Given the description of an element on the screen output the (x, y) to click on. 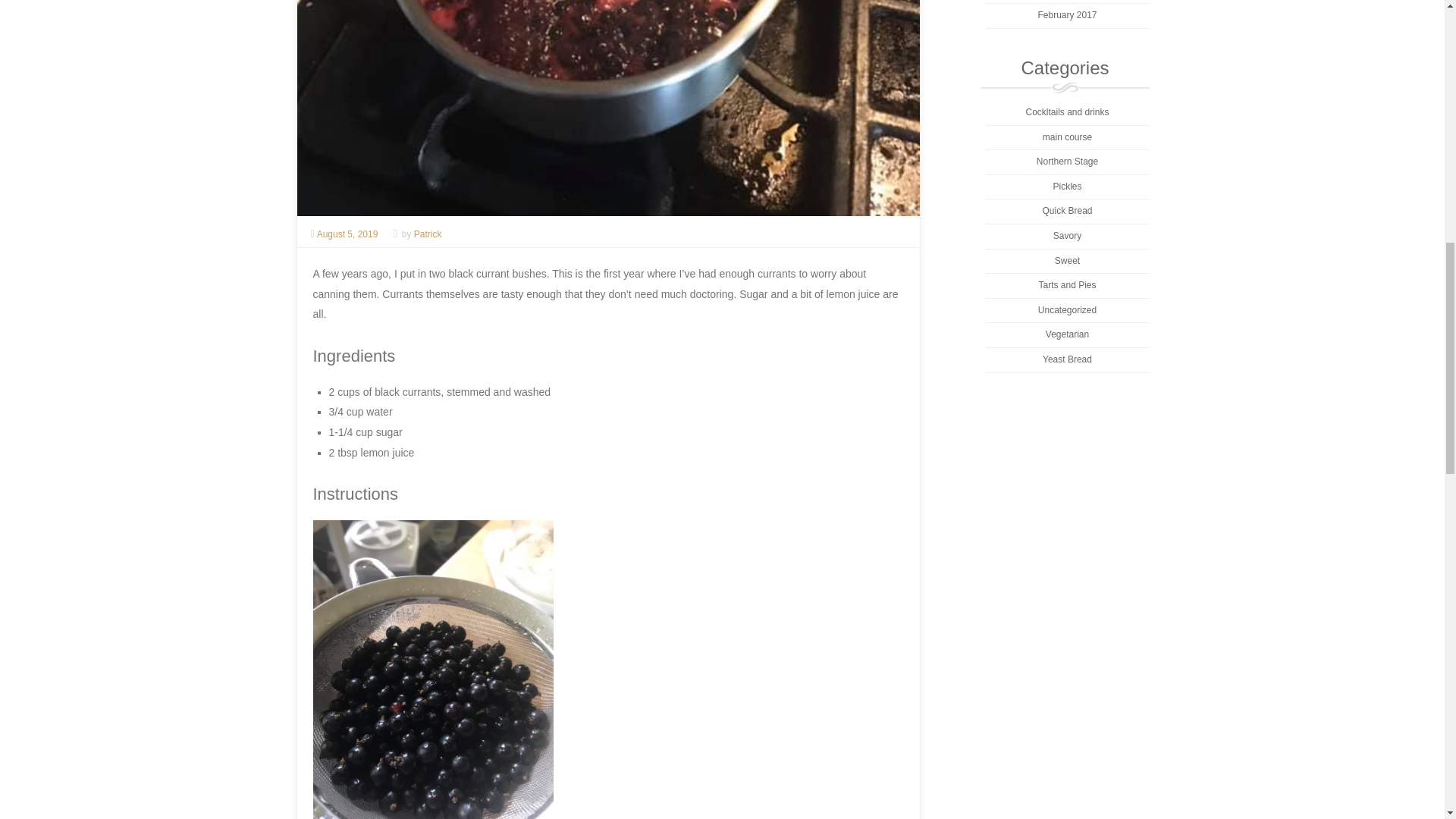
View all posts by Patrick (427, 234)
Cockltails and drinks (1066, 112)
main course (1067, 136)
February 2017 (1066, 14)
Pickles (1066, 185)
August 5, 2019 (350, 234)
Patrick (427, 234)
8:58 am (350, 234)
Northern Stage (1066, 161)
